Given the description of an element on the screen output the (x, y) to click on. 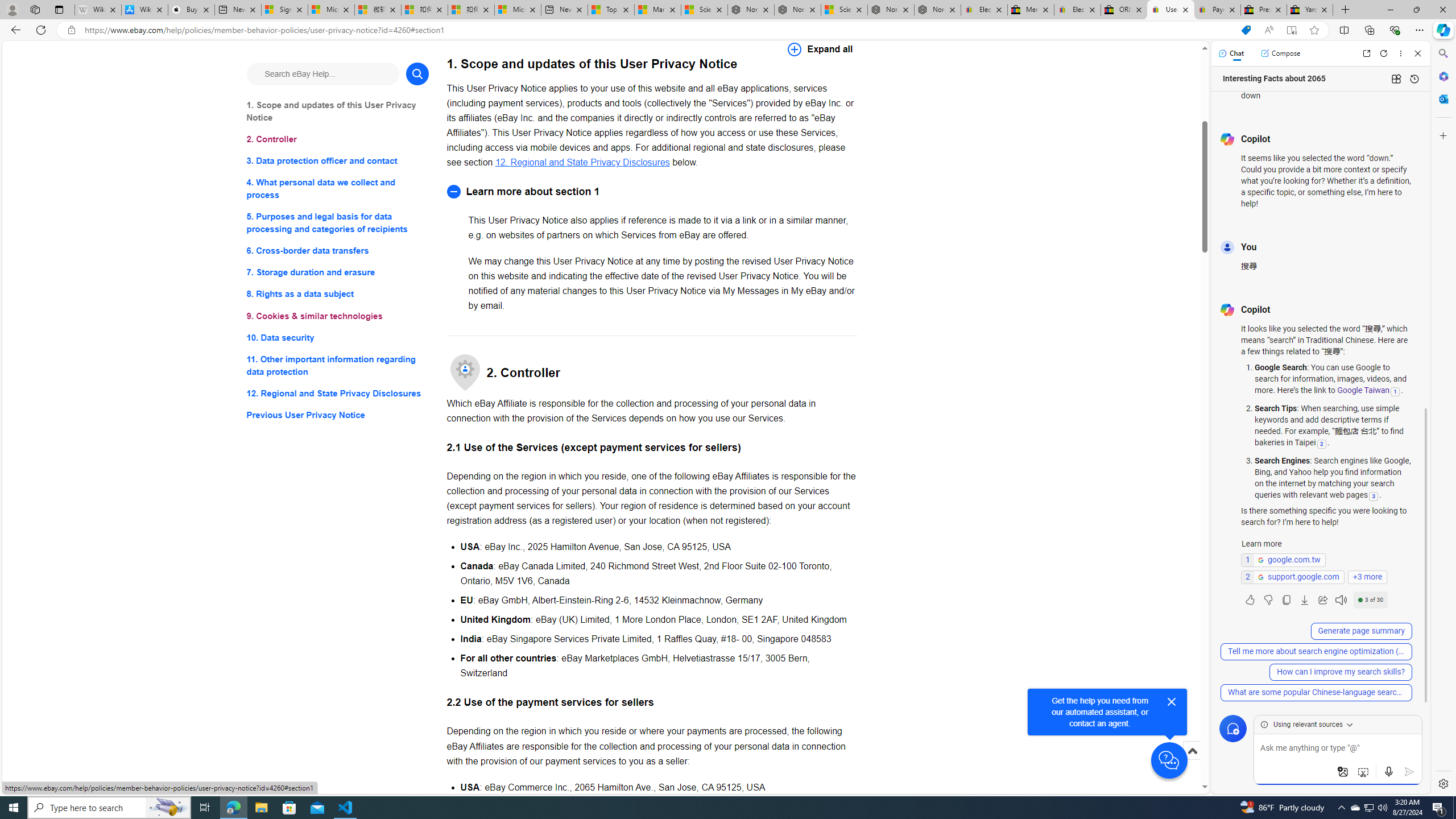
9. Cookies & similar technologies (337, 315)
1. Scope and updates of this User Privacy Notice (337, 111)
Scroll to top (1191, 762)
4. What personal data we collect and process (337, 189)
Microsoft Services Agreement (330, 9)
3. Data protection officer and contact (337, 160)
6. Cross-border data transfers (337, 250)
Marine life - MSN (656, 9)
Microsoft account | Account Checkup (517, 9)
Chat (1231, 52)
Expand all (820, 49)
